Given the description of an element on the screen output the (x, y) to click on. 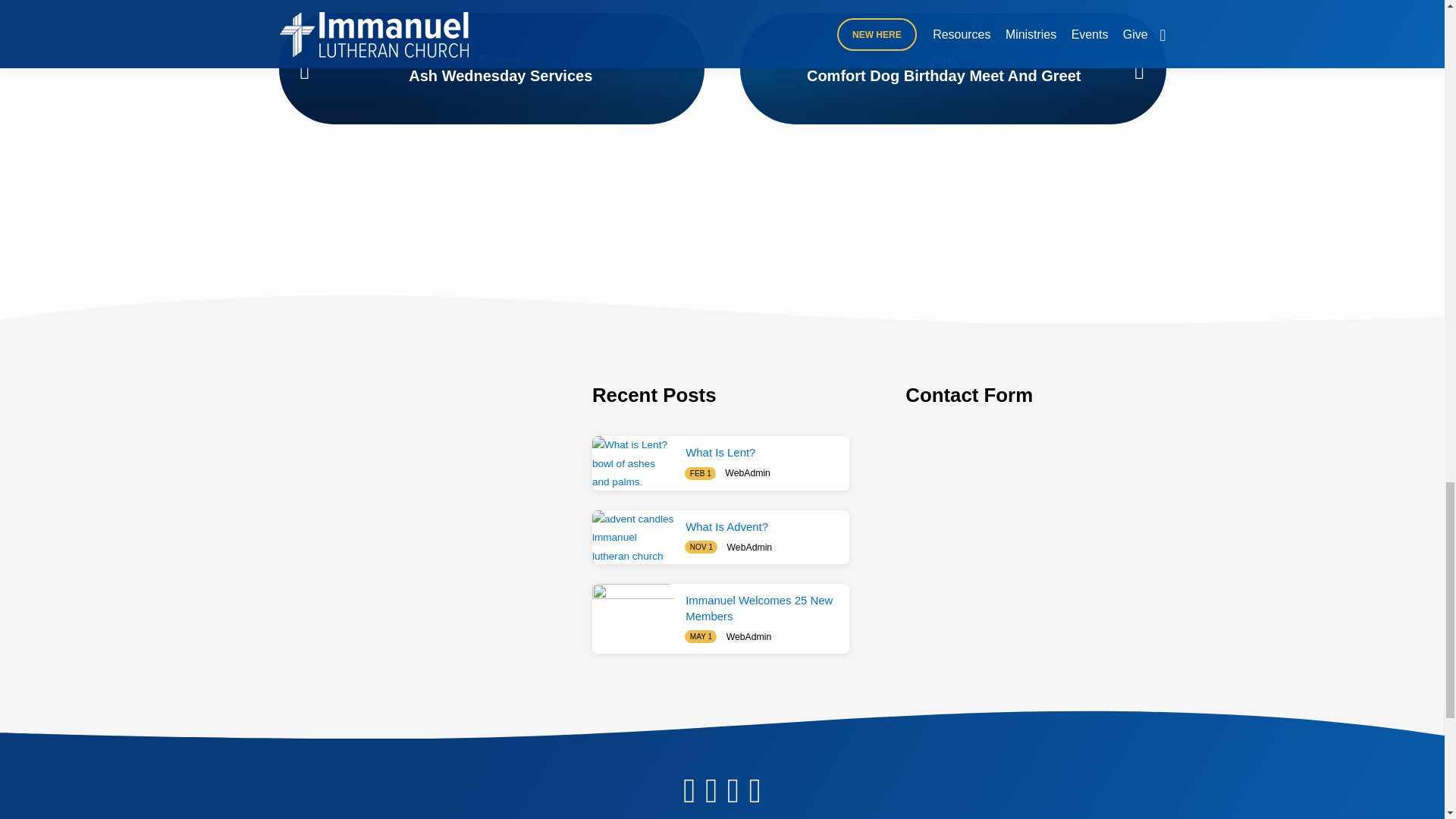
What Is Advent? (726, 526)
What Is Advent? (633, 537)
What Is Lent? (633, 462)
Immanuel Welcomes 25 New Members (633, 610)
What Is Lent? (720, 451)
Immanuel Welcomes 25 New Members (758, 607)
